Given the description of an element on the screen output the (x, y) to click on. 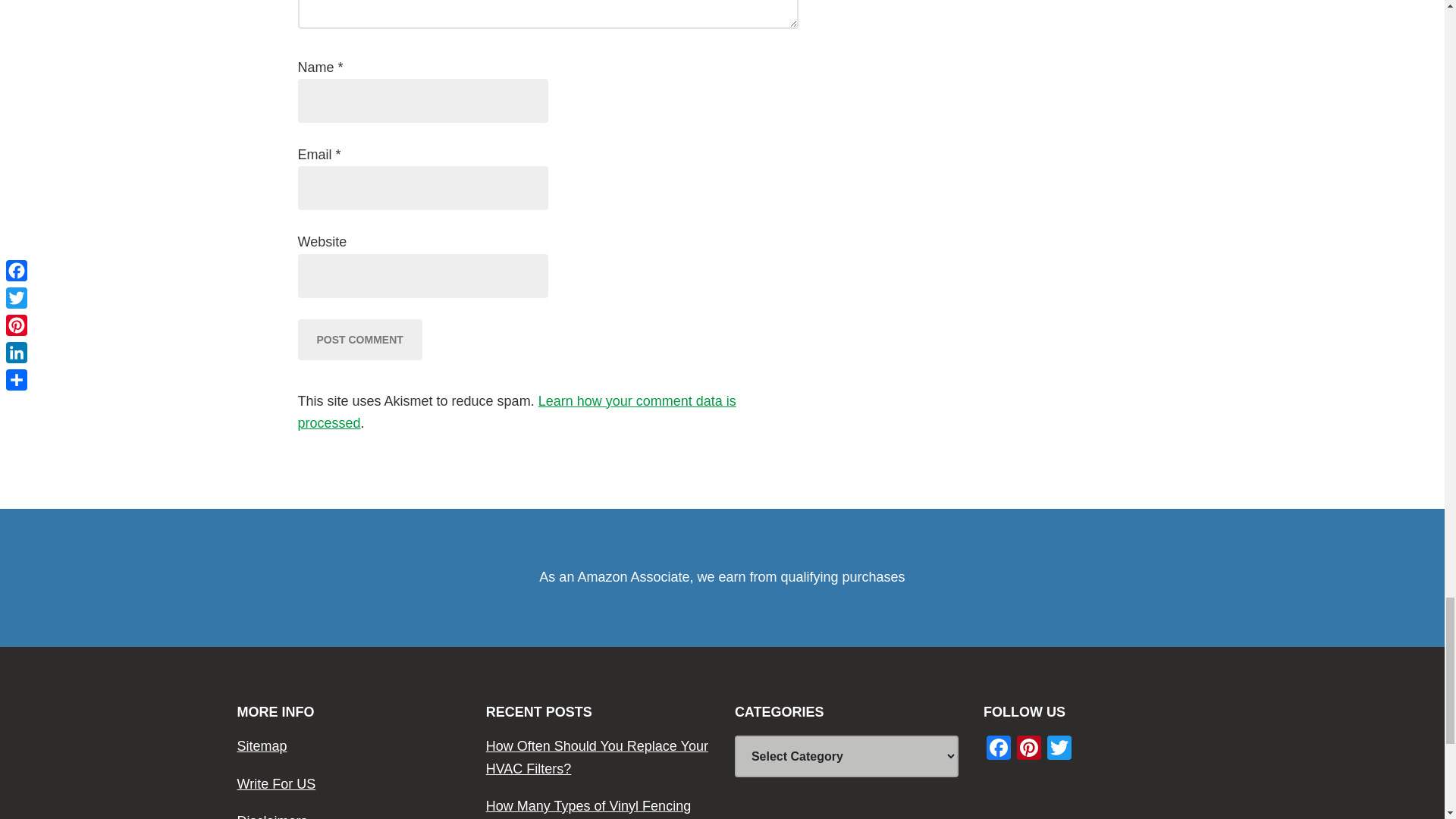
Facebook (998, 749)
Twitter (1058, 749)
Post Comment (359, 339)
Pinterest (1028, 749)
